Given the description of an element on the screen output the (x, y) to click on. 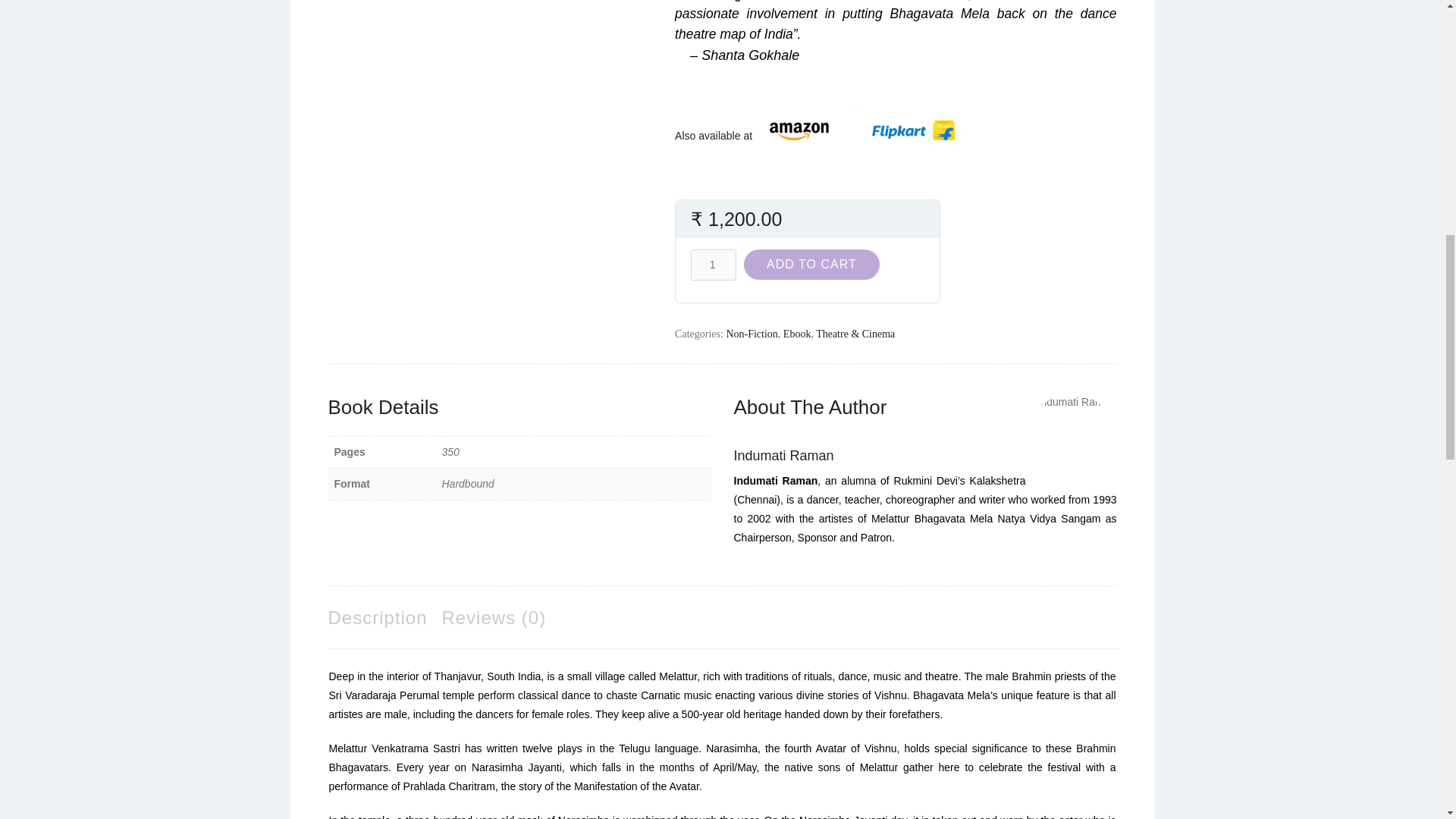
Also available at   (718, 135)
Ebook (796, 333)
Non-Fiction (751, 333)
1 (713, 264)
ADD TO CART (811, 264)
